Given the description of an element on the screen output the (x, y) to click on. 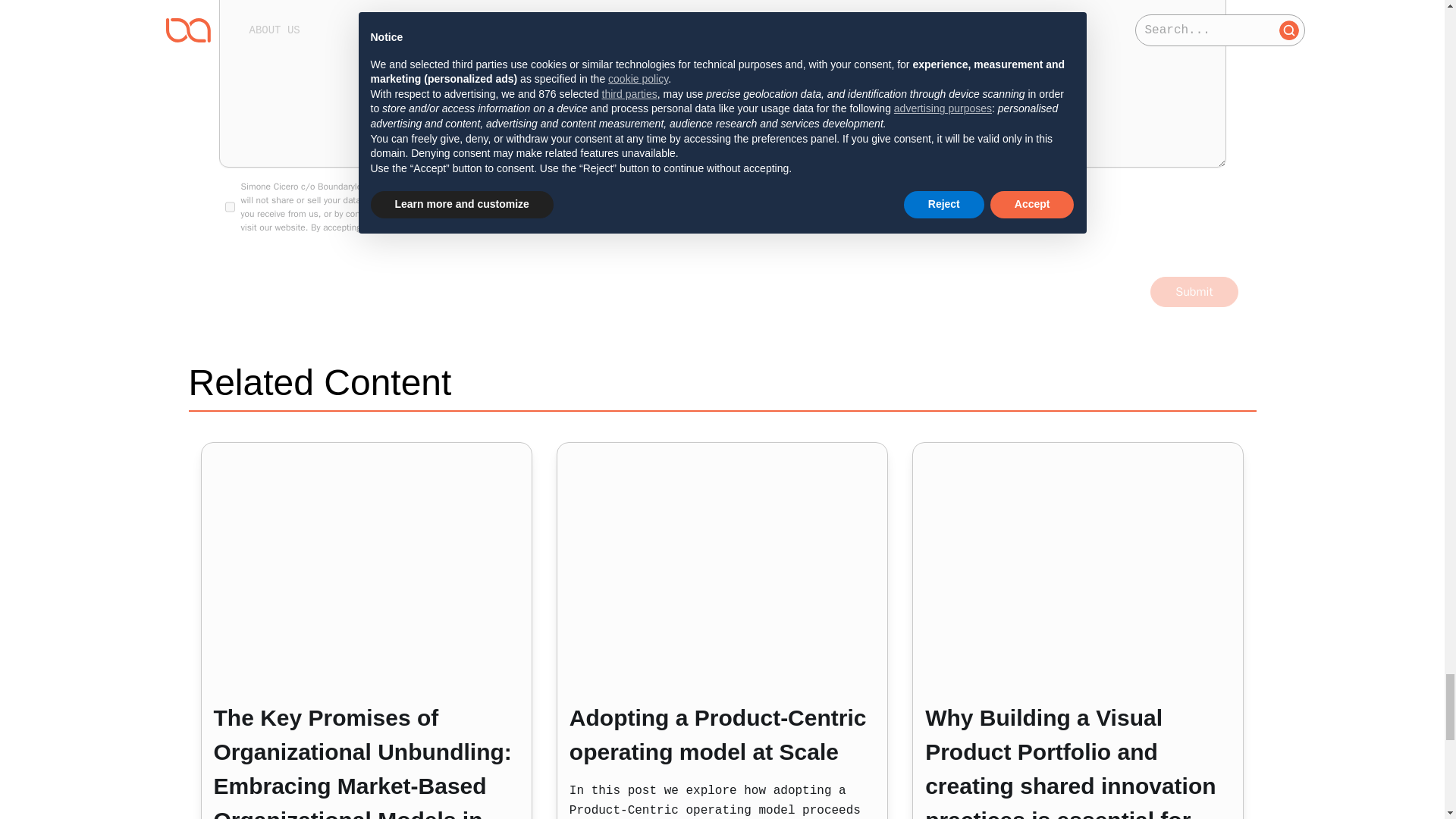
on (229, 206)
